Given the description of an element on the screen output the (x, y) to click on. 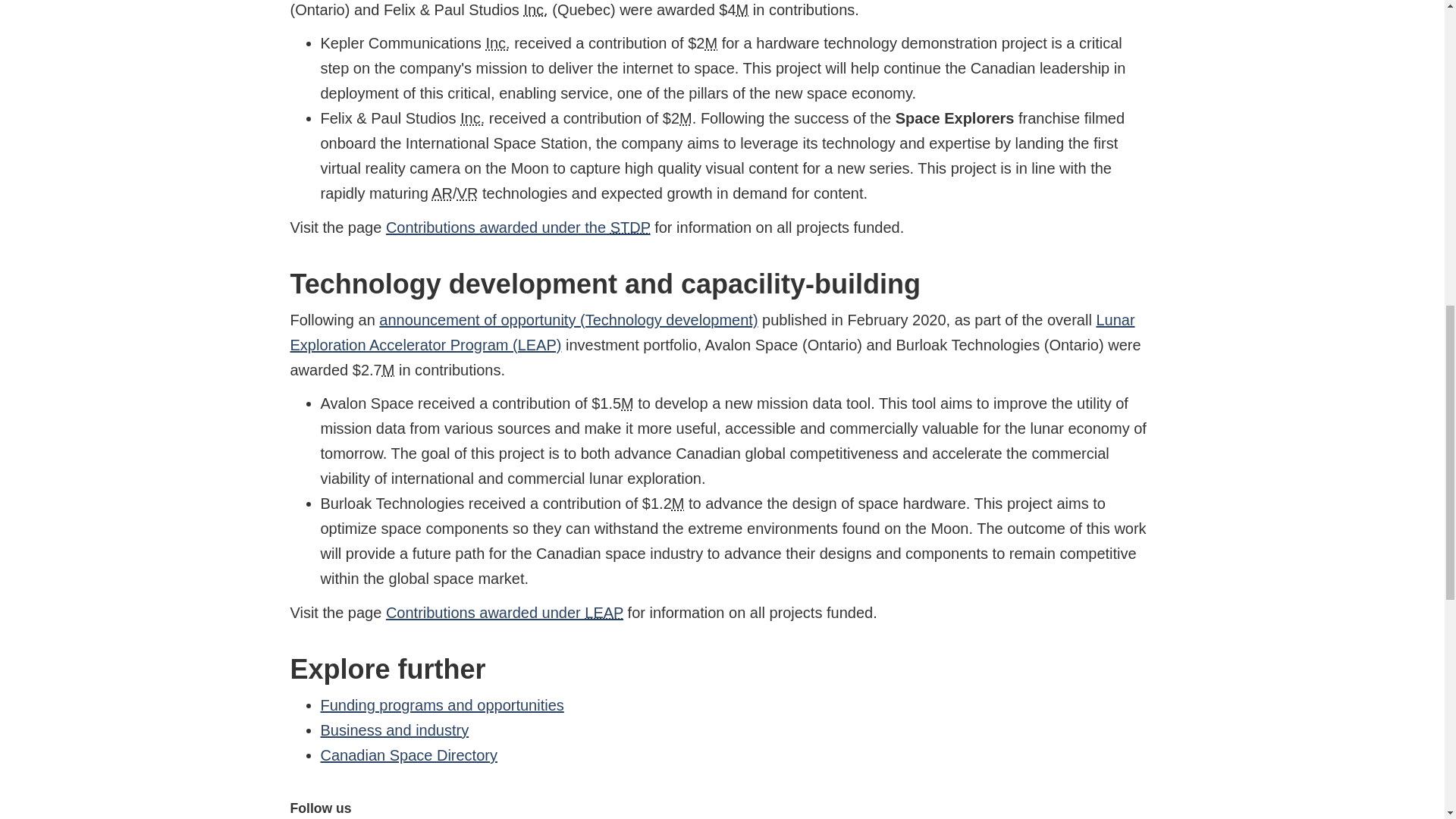
Business and industry (394, 729)
Contributions awarded under the STDP (517, 227)
Incorporated (496, 43)
Space Technology Development Program (630, 227)
Incorporated (472, 117)
Canadian Space Directory (408, 754)
Augmented reality (441, 193)
Incorporated (534, 9)
Virtual reality (468, 193)
Contributions awarded under LEAP (504, 612)
Funding programs and opportunities (441, 704)
